Given the description of an element on the screen output the (x, y) to click on. 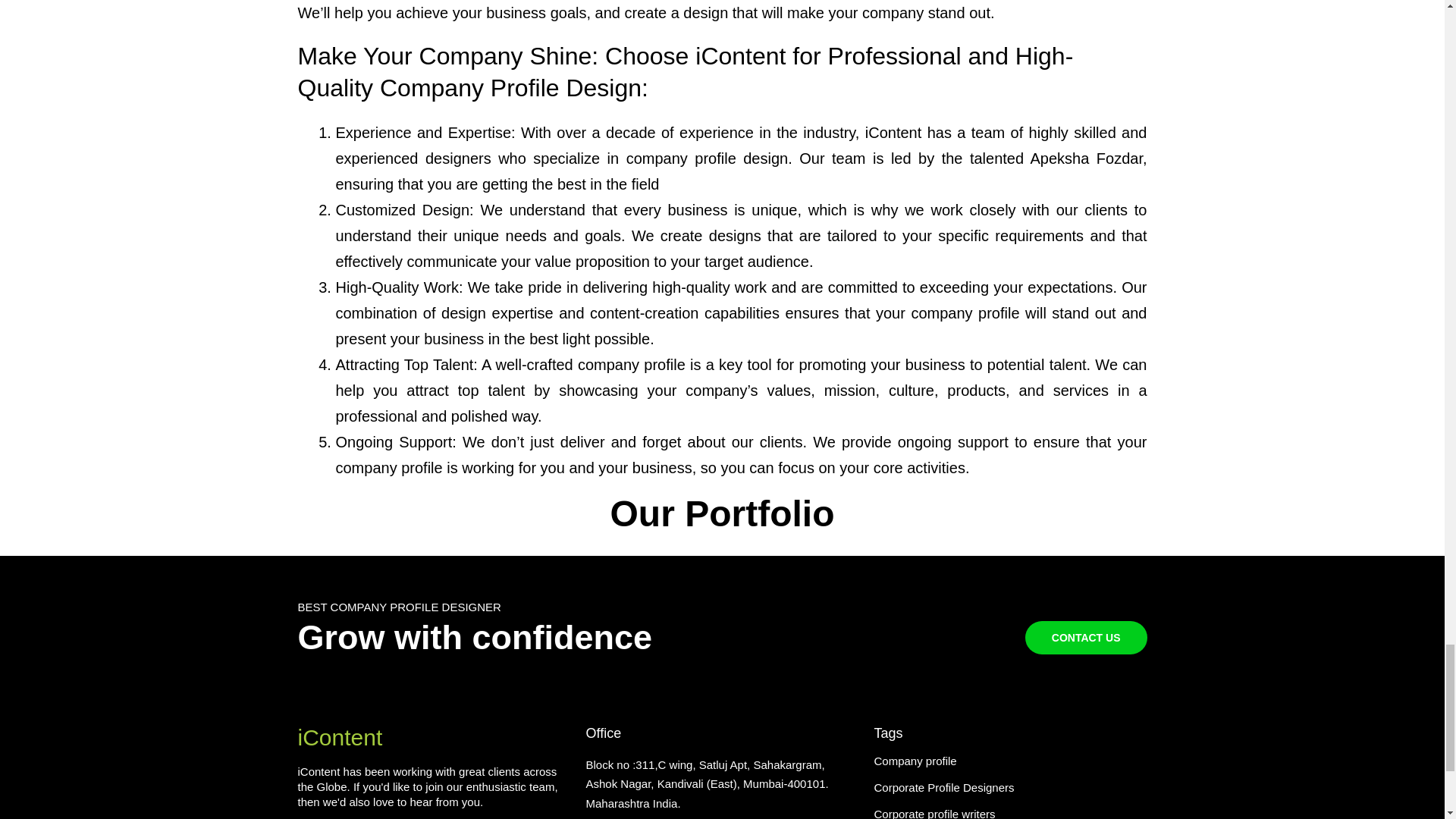
Company profile (914, 760)
CONTACT US (1086, 637)
Corporate Profile Designers (943, 787)
Corporate profile writers (933, 813)
